Given the description of an element on the screen output the (x, y) to click on. 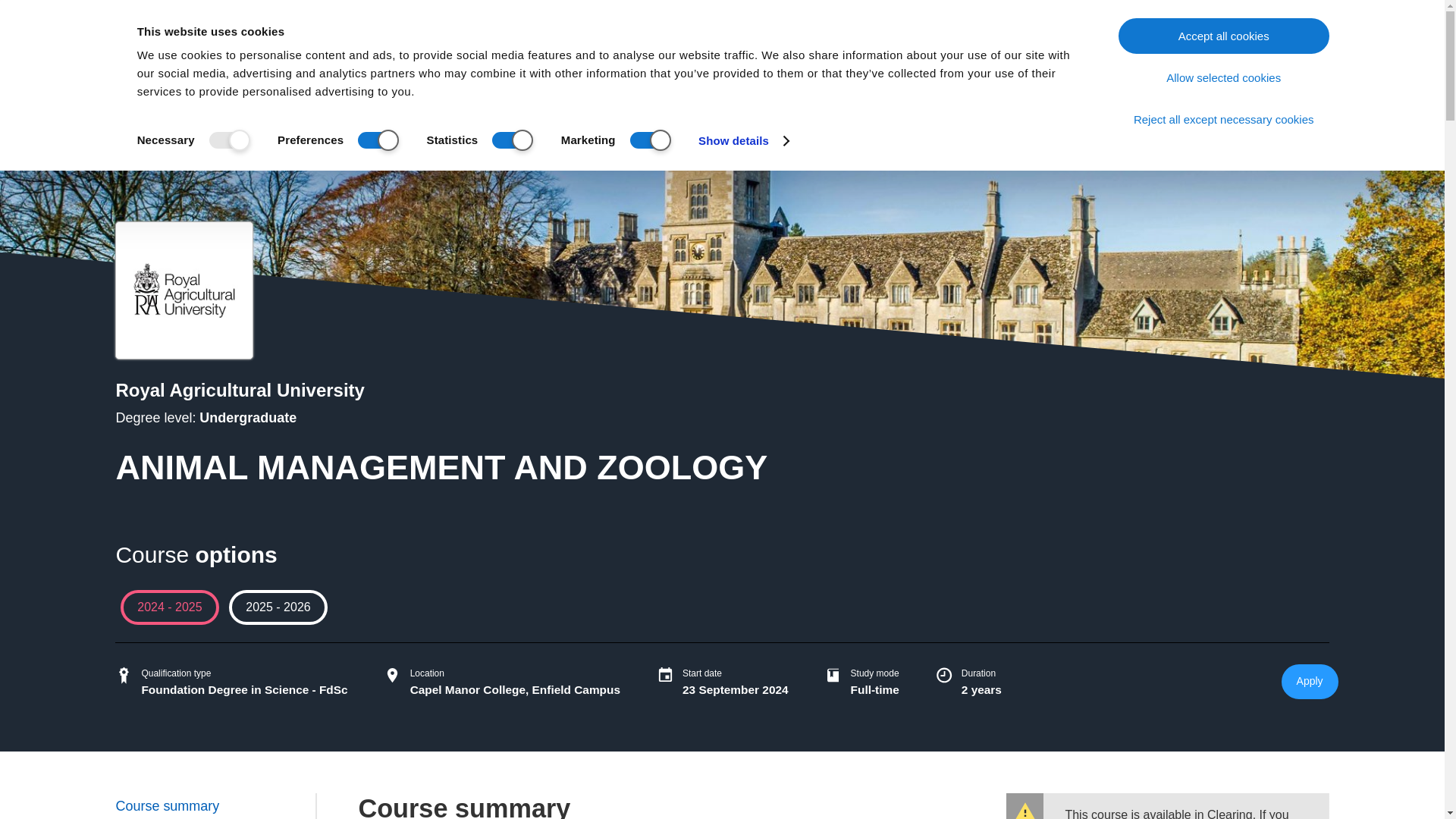
Show details (742, 140)
